Given the description of an element on the screen output the (x, y) to click on. 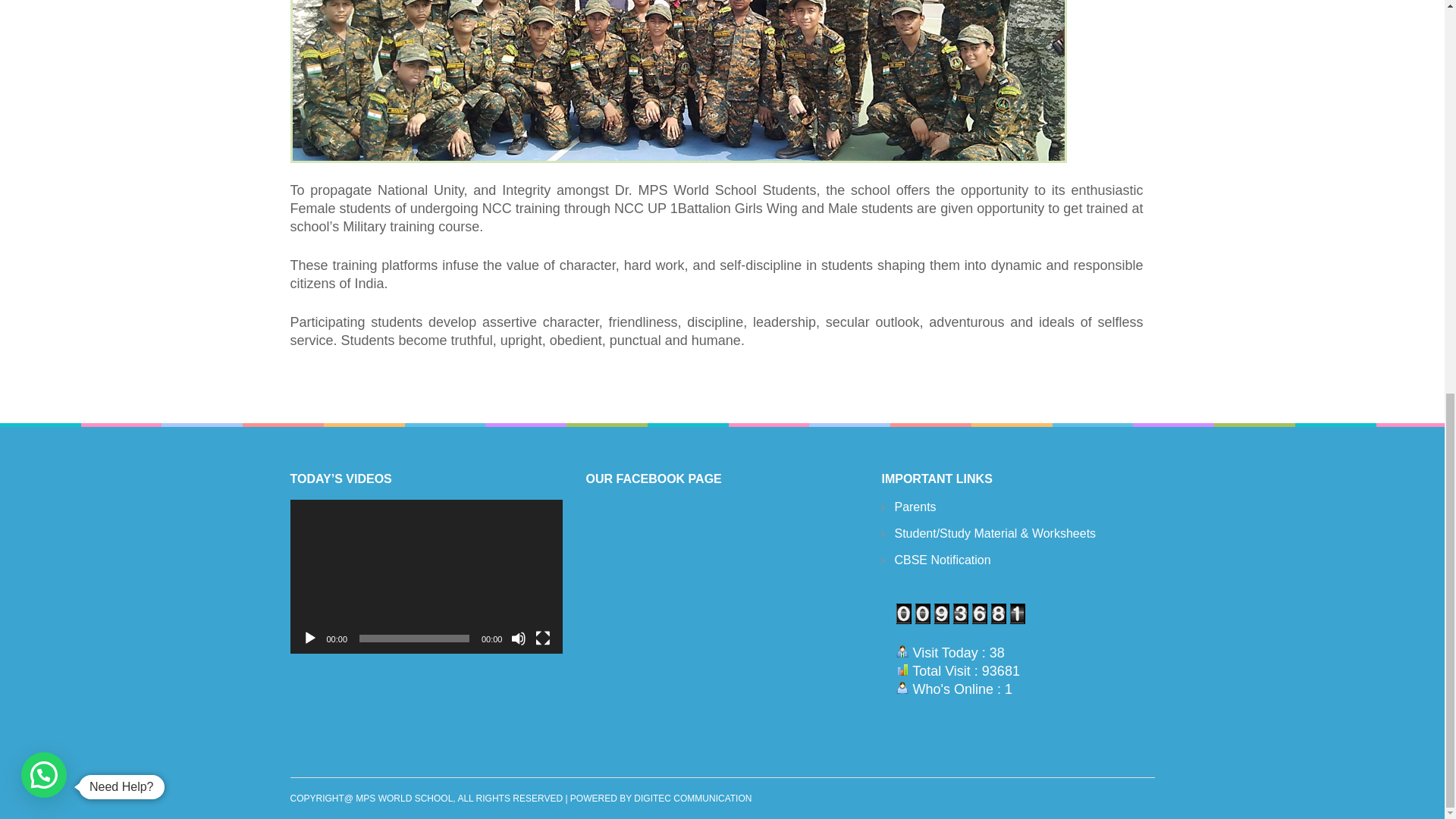
Fullscreen (542, 638)
Play (309, 638)
Mute (518, 638)
